Given the description of an element on the screen output the (x, y) to click on. 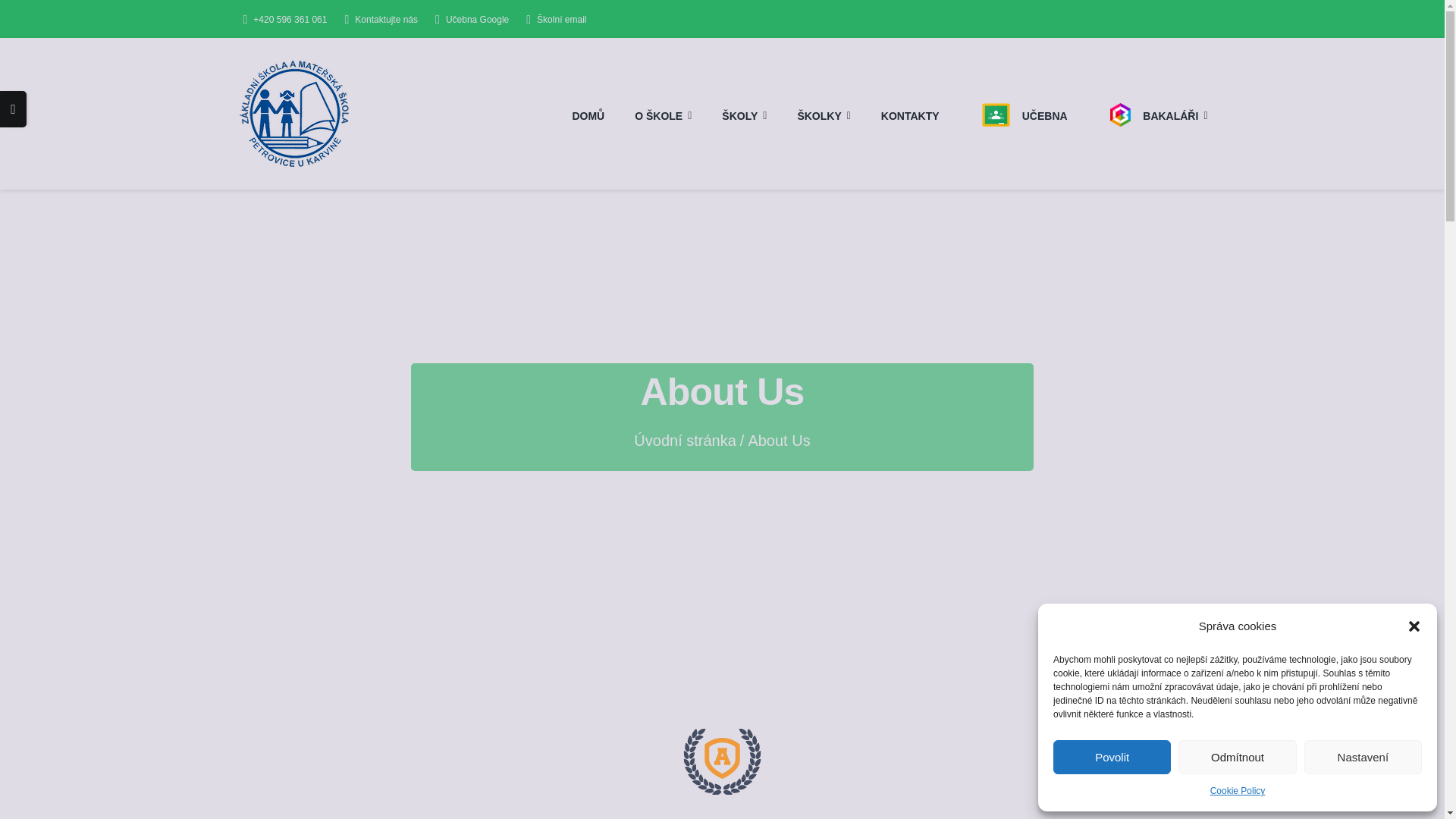
Povolit (1111, 756)
Cookie Policy (1237, 791)
